Given the description of an element on the screen output the (x, y) to click on. 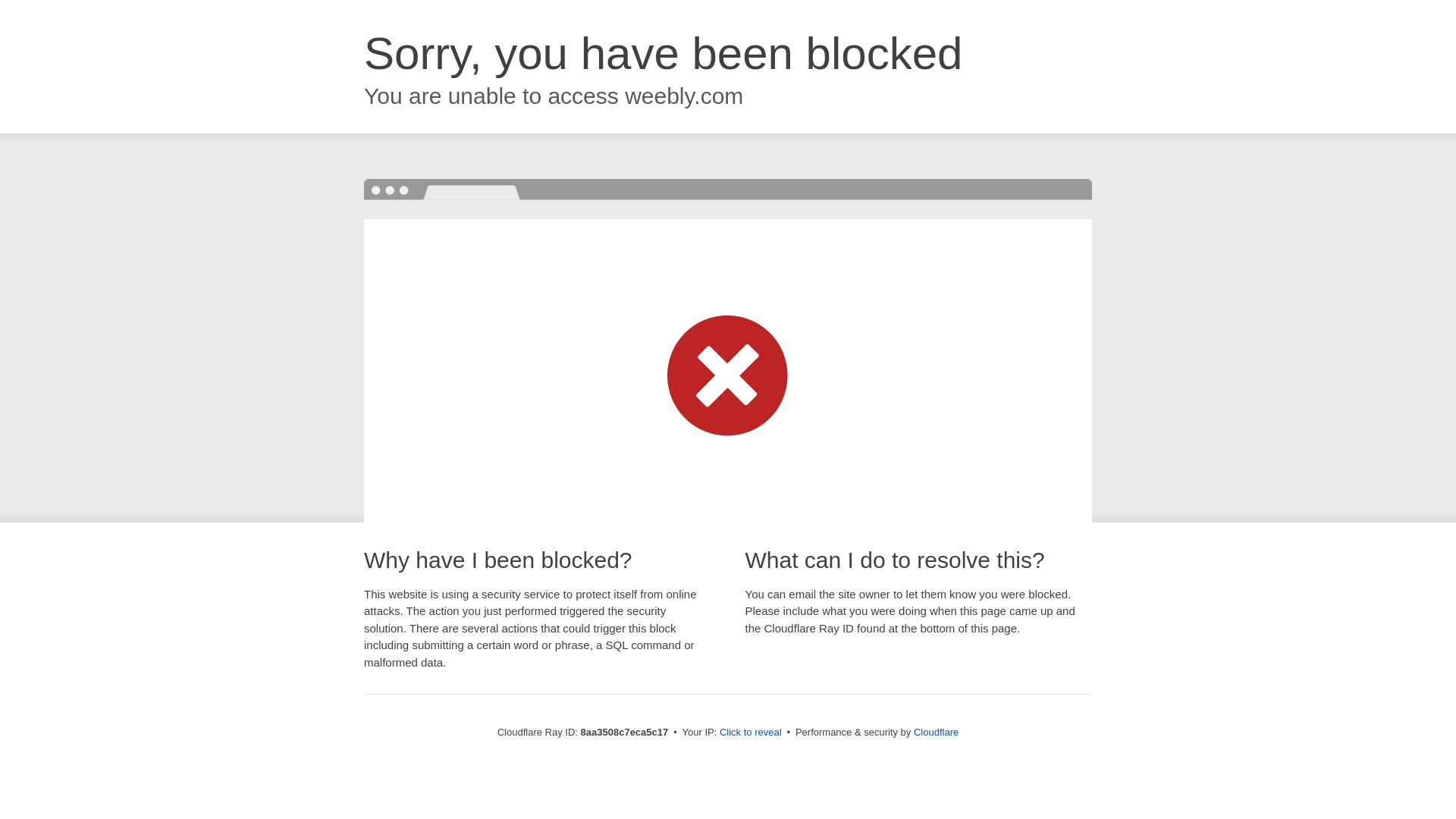
Cloudflare (936, 731)
Click to reveal (750, 732)
